Given the description of an element on the screen output the (x, y) to click on. 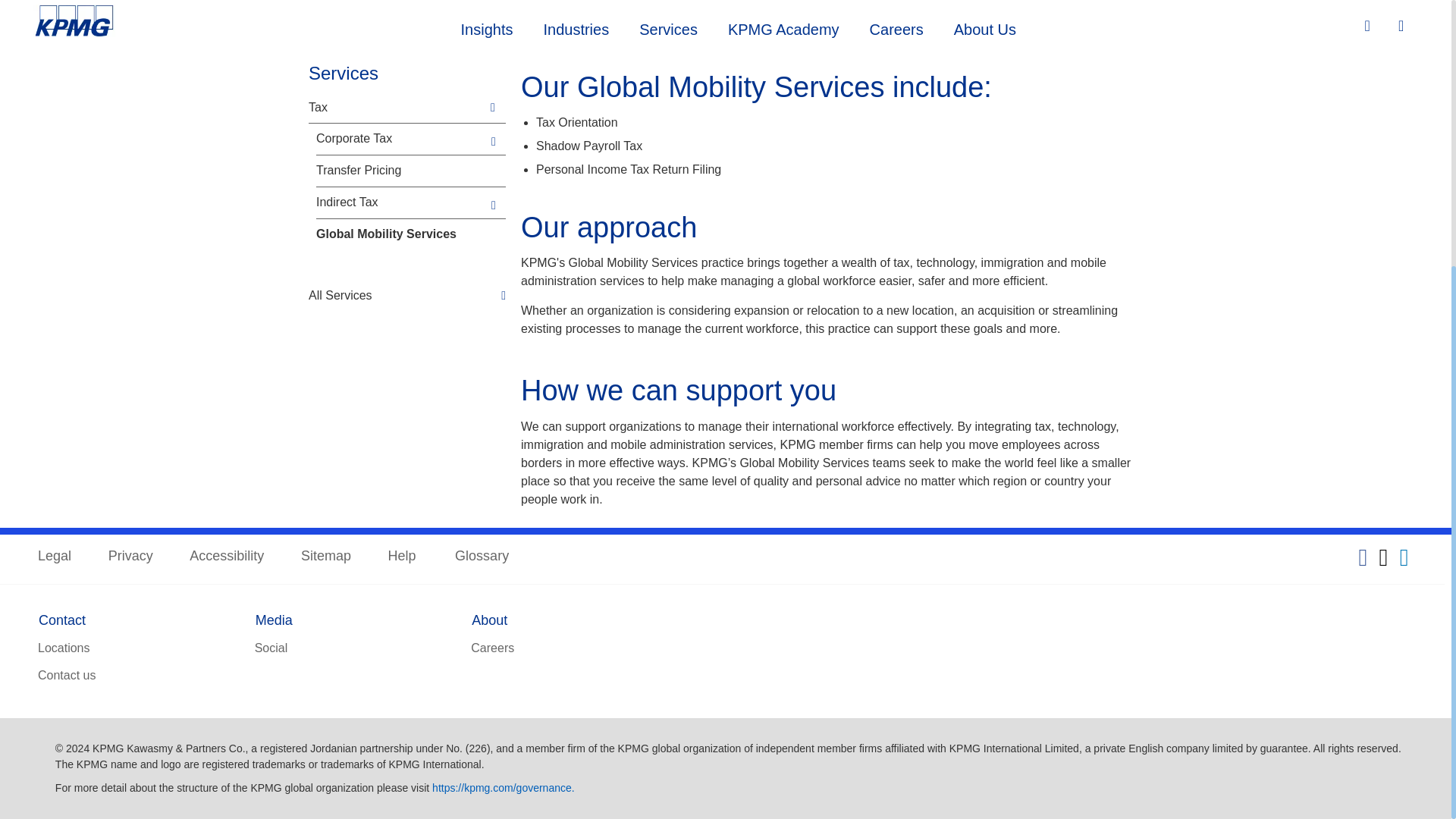
Tax (438, 36)
All Services (406, 294)
Accessibility (226, 556)
Legal (54, 556)
Tax (397, 107)
Indirect Tax (400, 202)
Corporate Tax (400, 139)
Privacy (129, 556)
Services (384, 36)
Help (403, 556)
Transfer Pricing (400, 170)
Home (323, 36)
Sitemap (325, 556)
Global Mobility Services (400, 234)
